Given the description of an element on the screen output the (x, y) to click on. 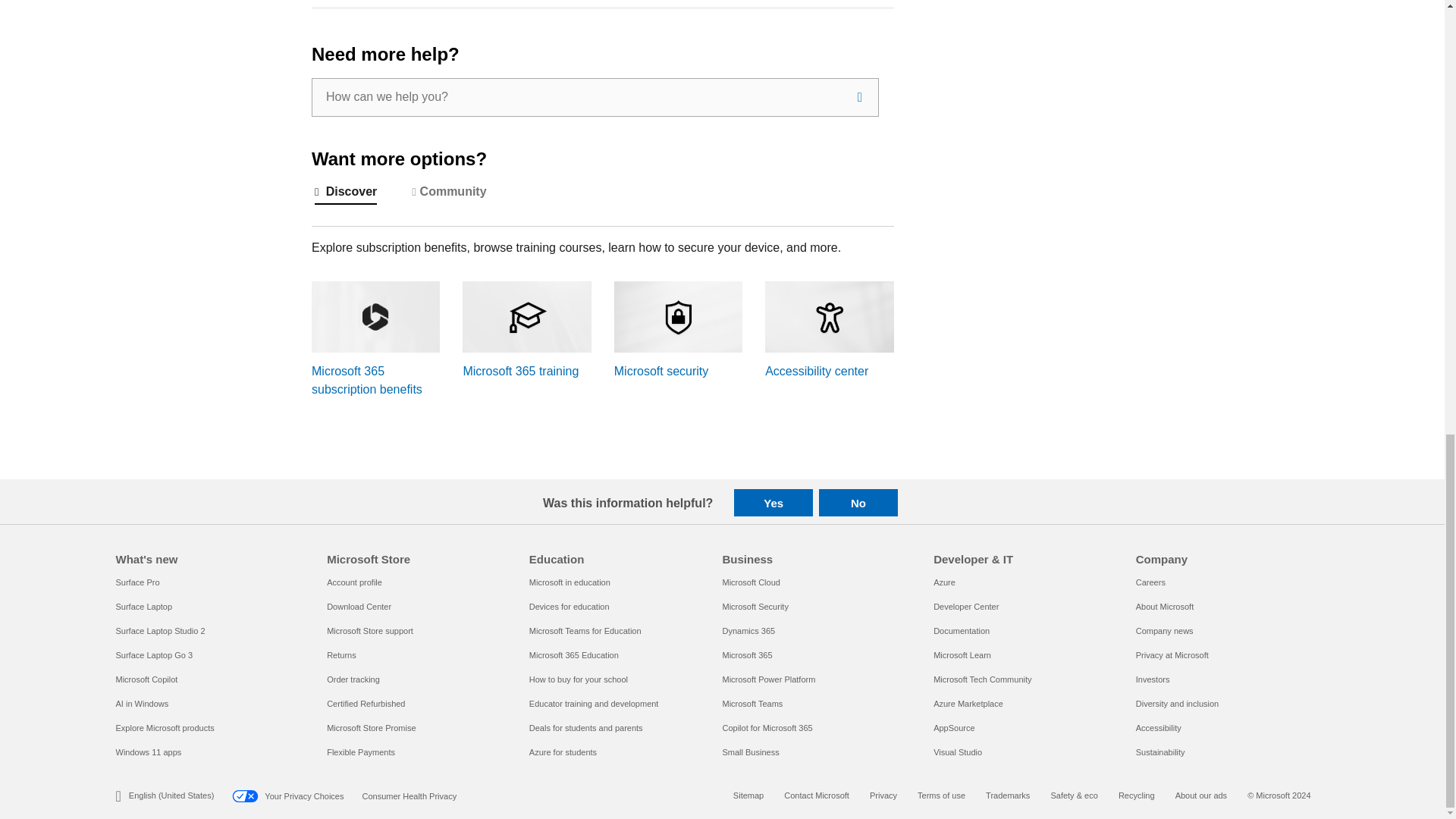
Search (860, 97)
